Given the description of an element on the screen output the (x, y) to click on. 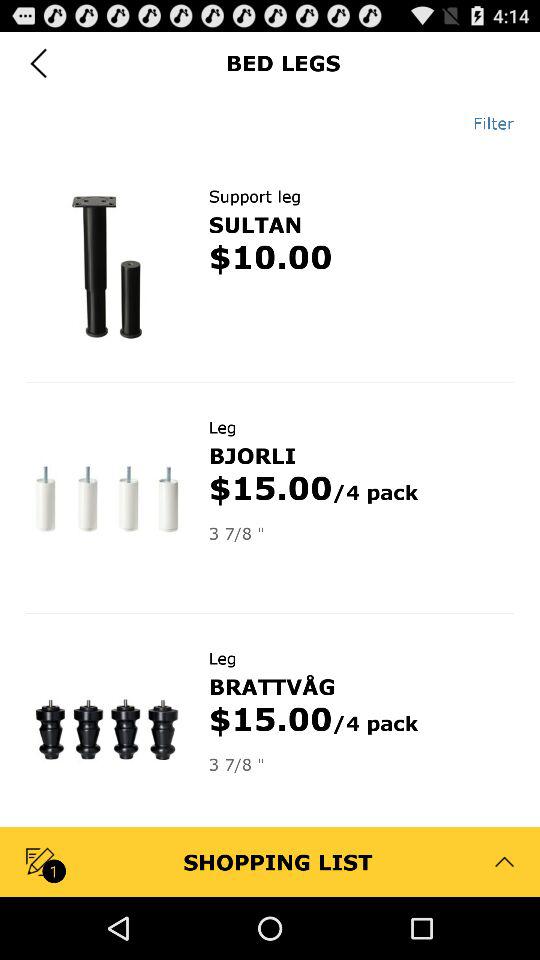
select item above sultan icon (254, 195)
